Given the description of an element on the screen output the (x, y) to click on. 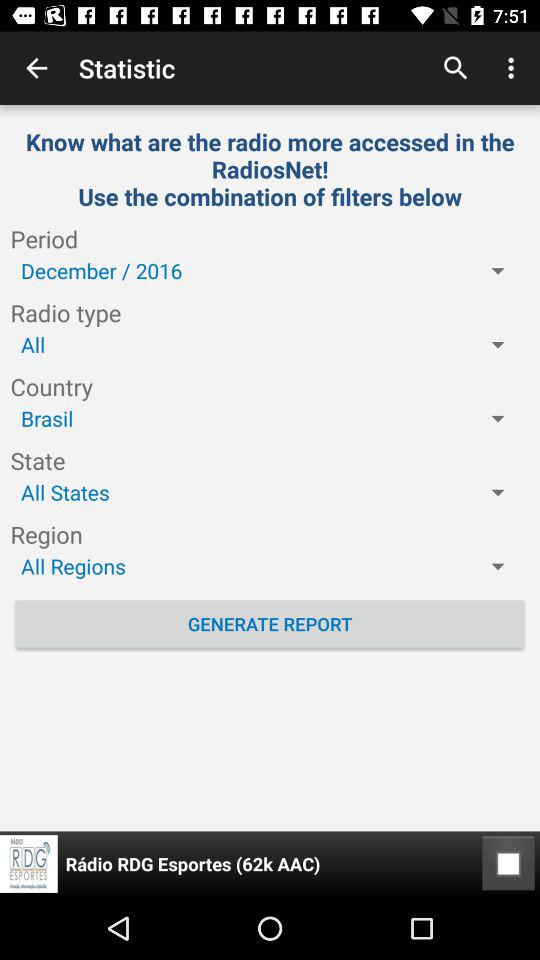
select the text generate report (269, 624)
